Given the description of an element on the screen output the (x, y) to click on. 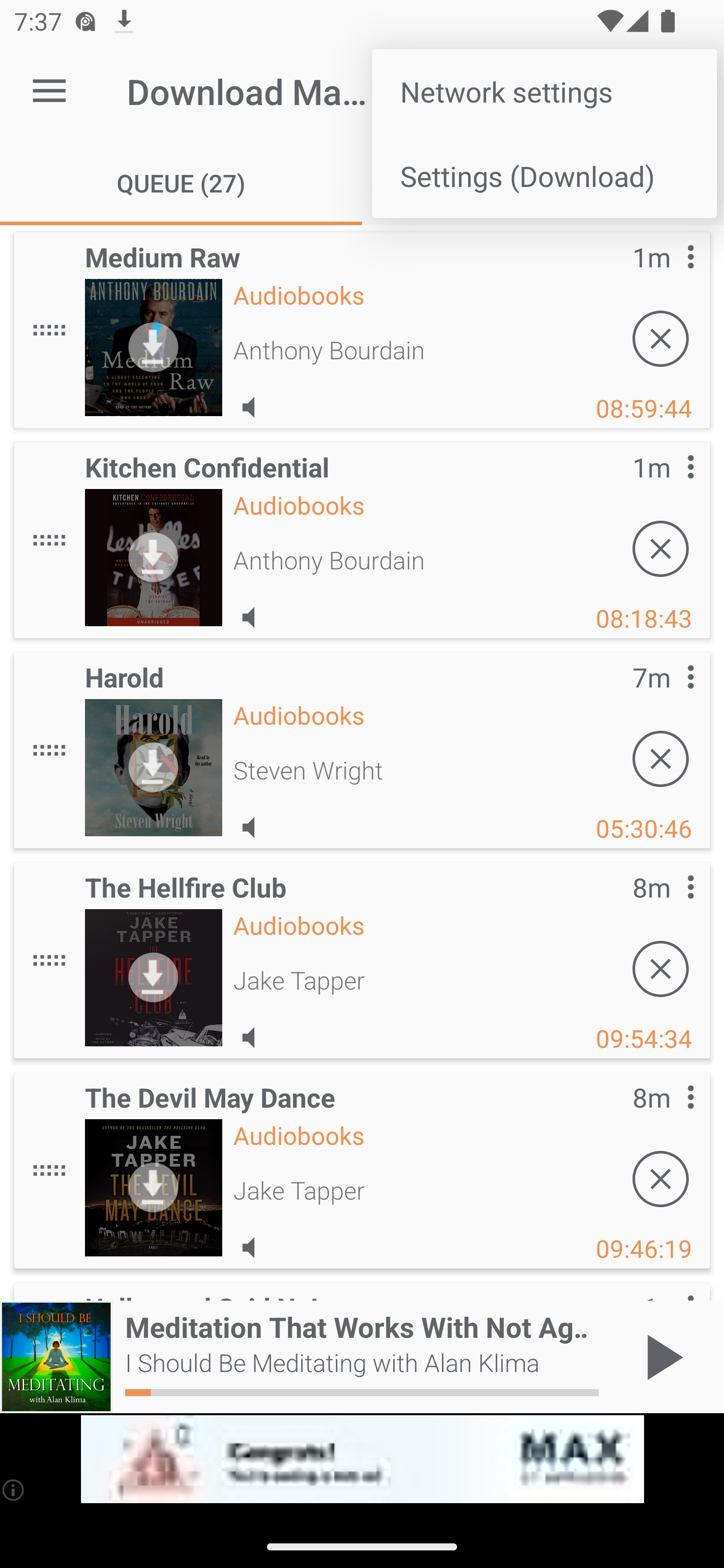
Network settings (544, 90)
Settings (Download) (544, 175)
